Given the description of an element on the screen output the (x, y) to click on. 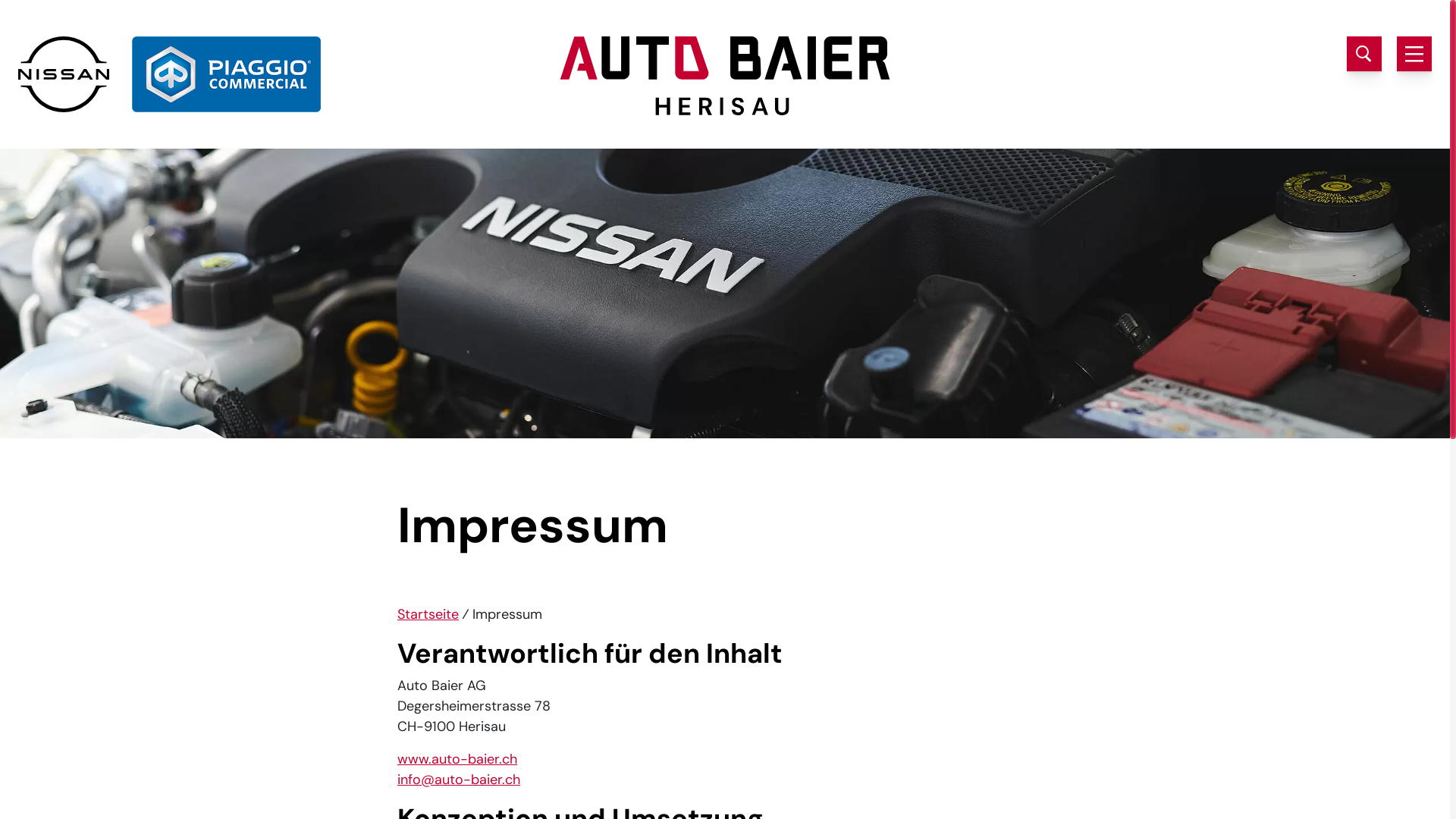
info@auto-baier.ch Element type: text (458, 779)
Toggle Navigation Element type: text (1413, 53)
www.auto-baier.ch Element type: text (457, 758)
Nissan Schweiz Element type: hover (63, 74)
Startseite Element type: text (427, 614)
Piaggio Commercial Schweiz Element type: hover (225, 74)
